Given the description of an element on the screen output the (x, y) to click on. 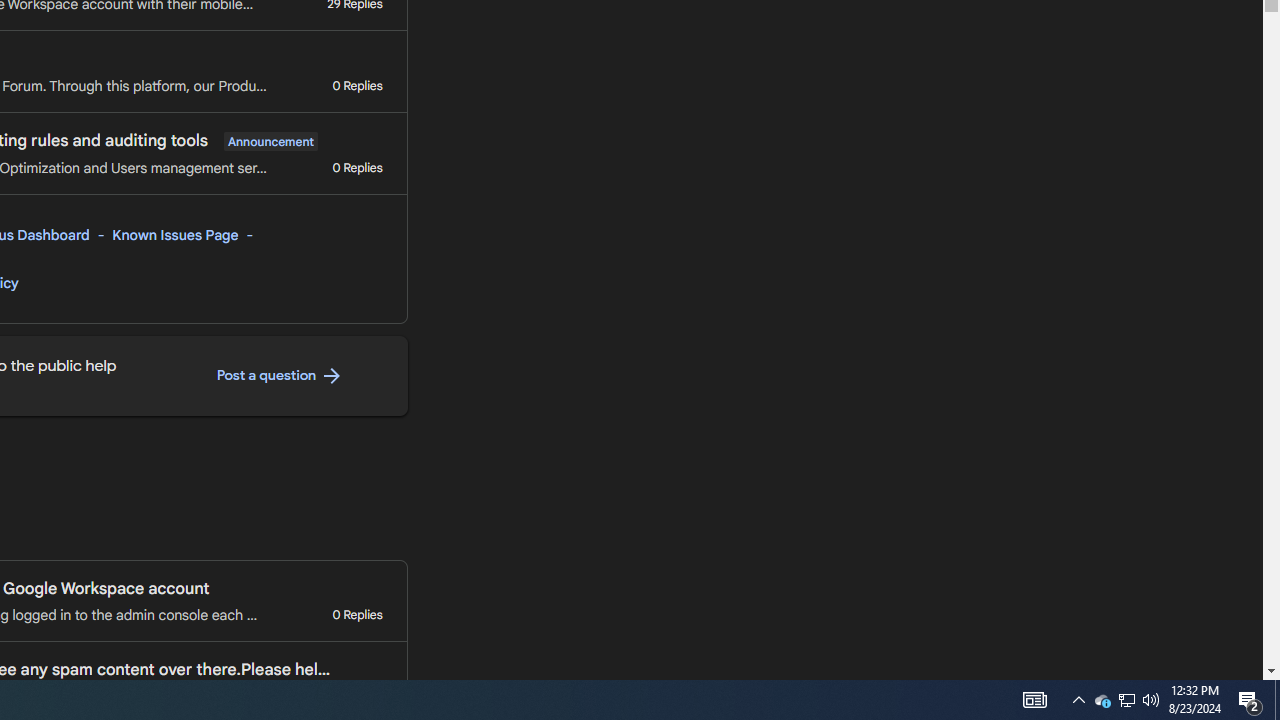
Post a question  (280, 376)
Known Issues Page (175, 235)
